Given the description of an element on the screen output the (x, y) to click on. 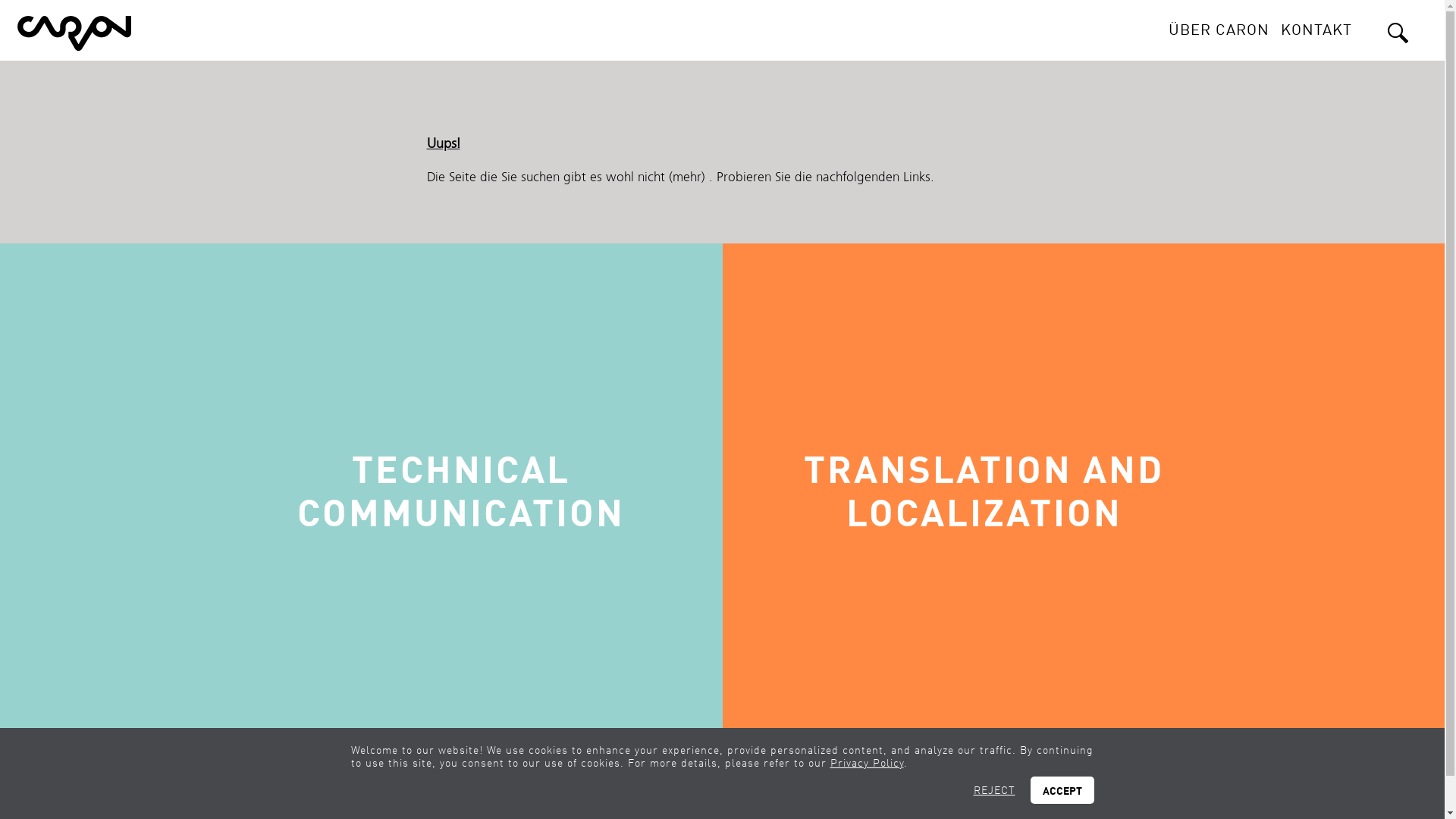
Privacy Policy Element type: text (866, 762)
ACCEPT Element type: text (1061, 789)
TECHNICAL COMMUNICATION Element type: text (361, 496)
TRANSLATION AND LOCALIZATION Element type: text (1082, 496)
KONTAKT Element type: text (1316, 28)
REJECT Element type: text (994, 789)
